Given the description of an element on the screen output the (x, y) to click on. 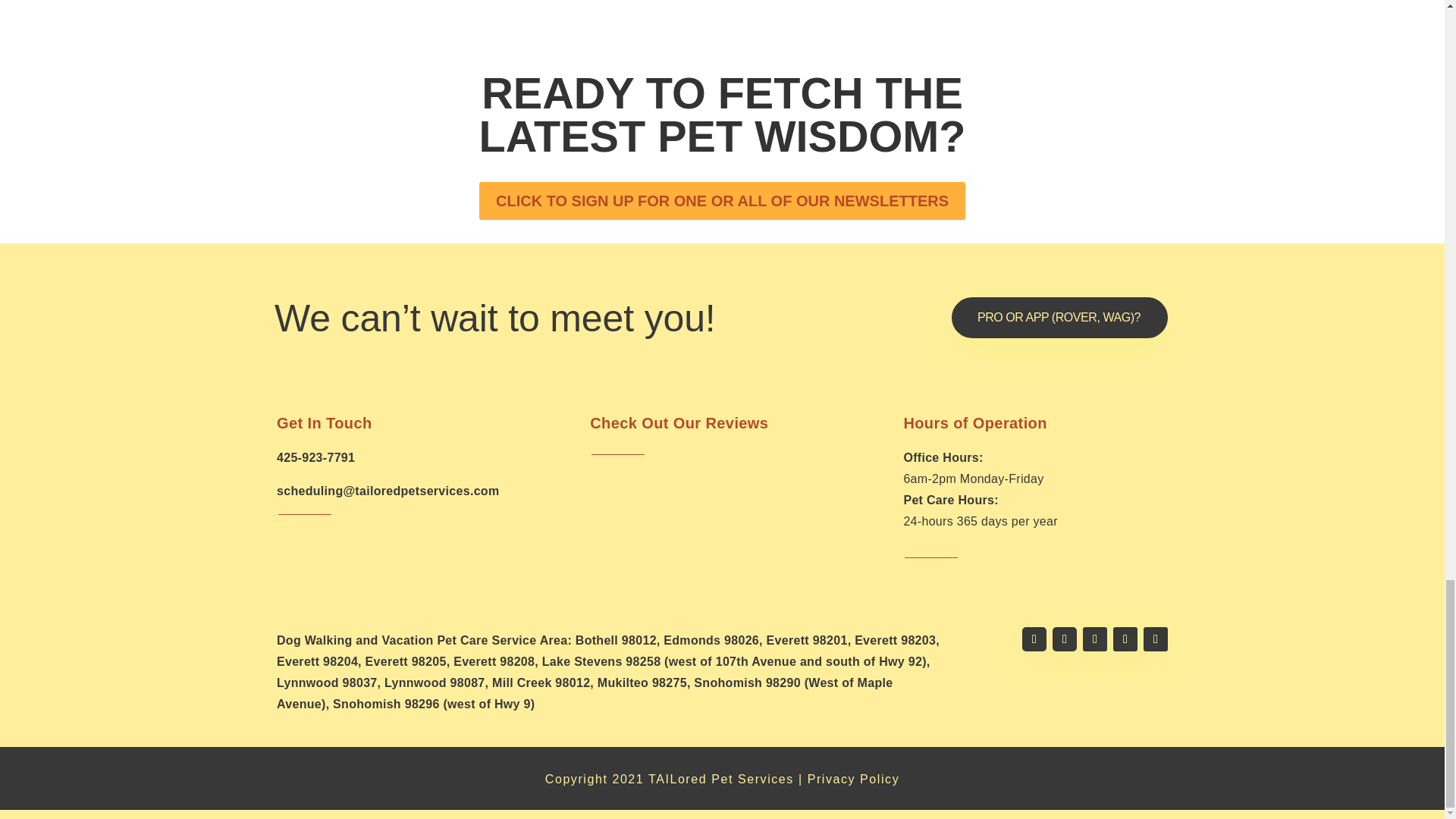
Follow on Instagram (1094, 639)
Follow on Youtube (1125, 639)
Follow on X (1064, 639)
Follow on Pinterest (1154, 639)
Follow on Facebook (1034, 639)
